Given the description of an element on the screen output the (x, y) to click on. 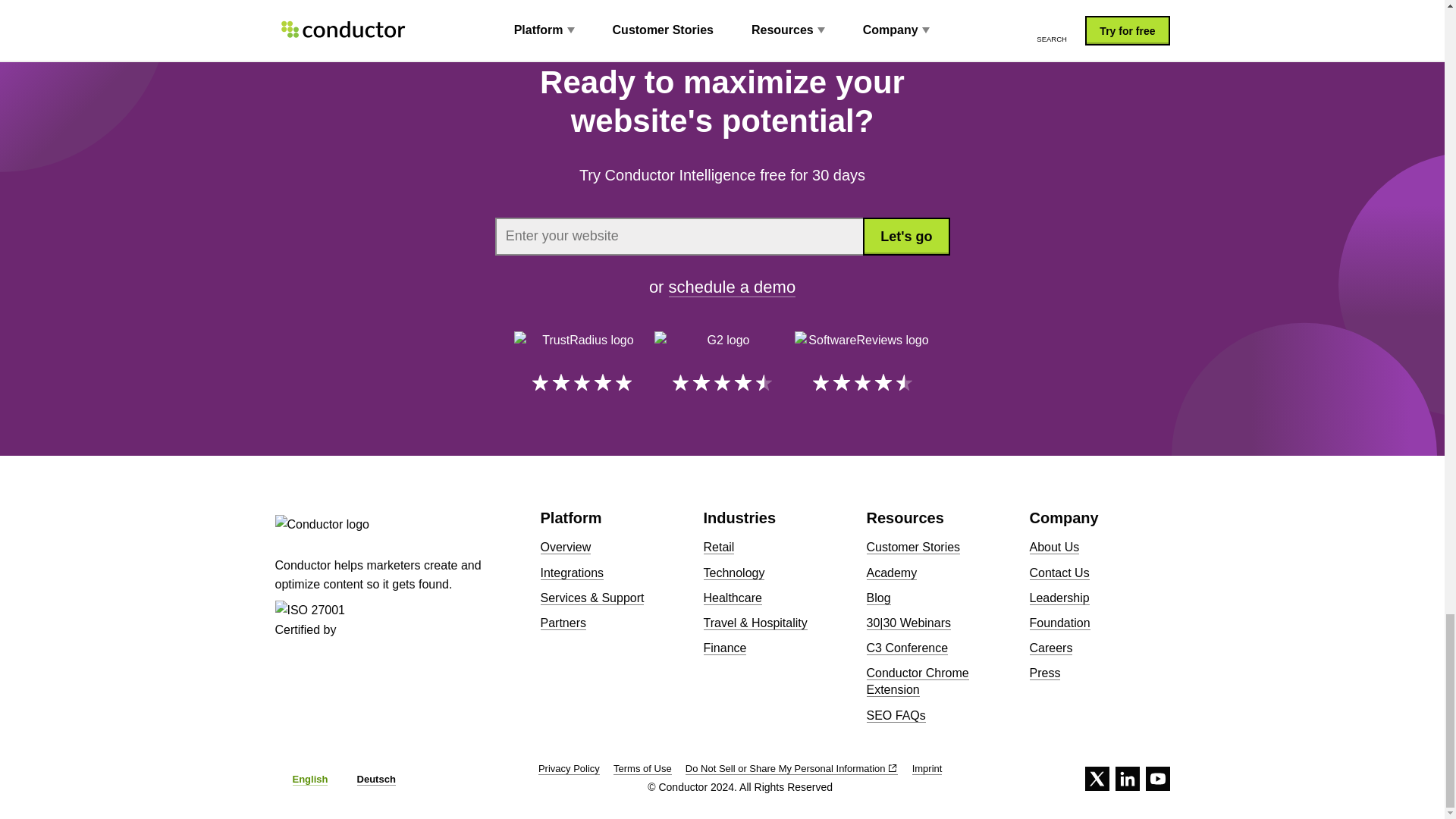
YouTube (1156, 778)
X (1096, 778)
LinkedIn (1126, 778)
